Given the description of an element on the screen output the (x, y) to click on. 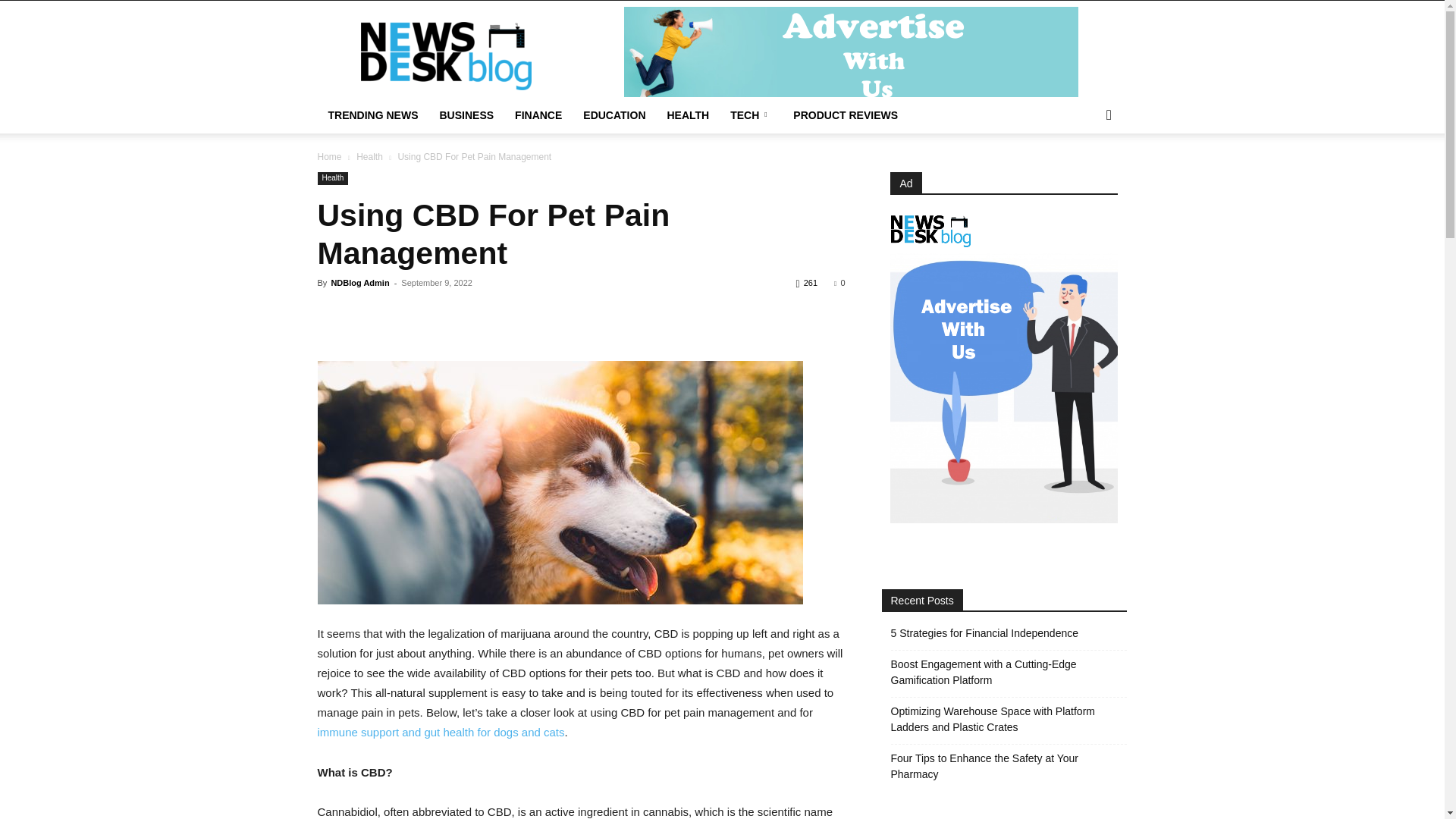
HEALTH (688, 115)
Search (1085, 175)
TRENDING NEWS (372, 115)
FINANCE (537, 115)
Health (369, 156)
Pet-Friendly (559, 482)
Health (332, 178)
NDBlog Admin (359, 282)
BUSINESS (467, 115)
EDUCATION (614, 115)
